Given the description of an element on the screen output the (x, y) to click on. 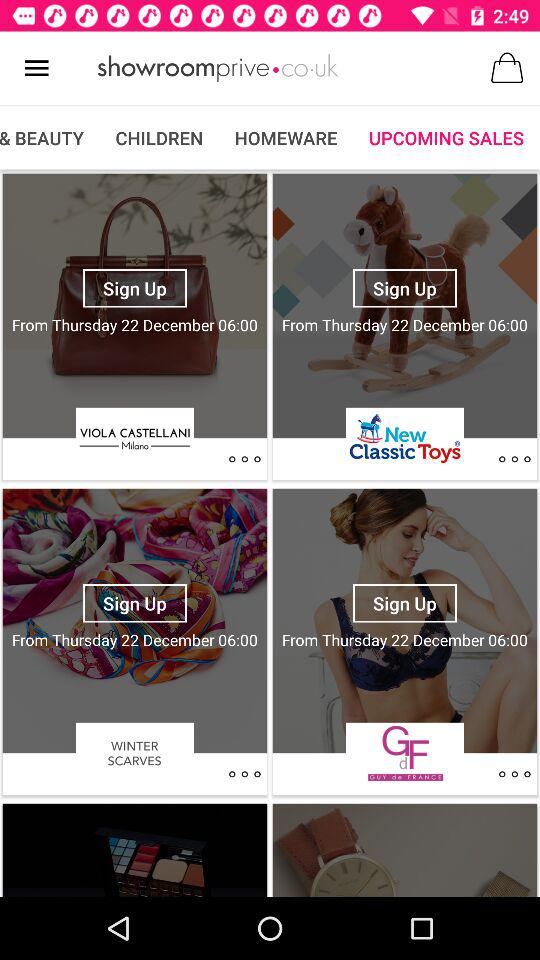
toggle more options (514, 774)
